Given the description of an element on the screen output the (x, y) to click on. 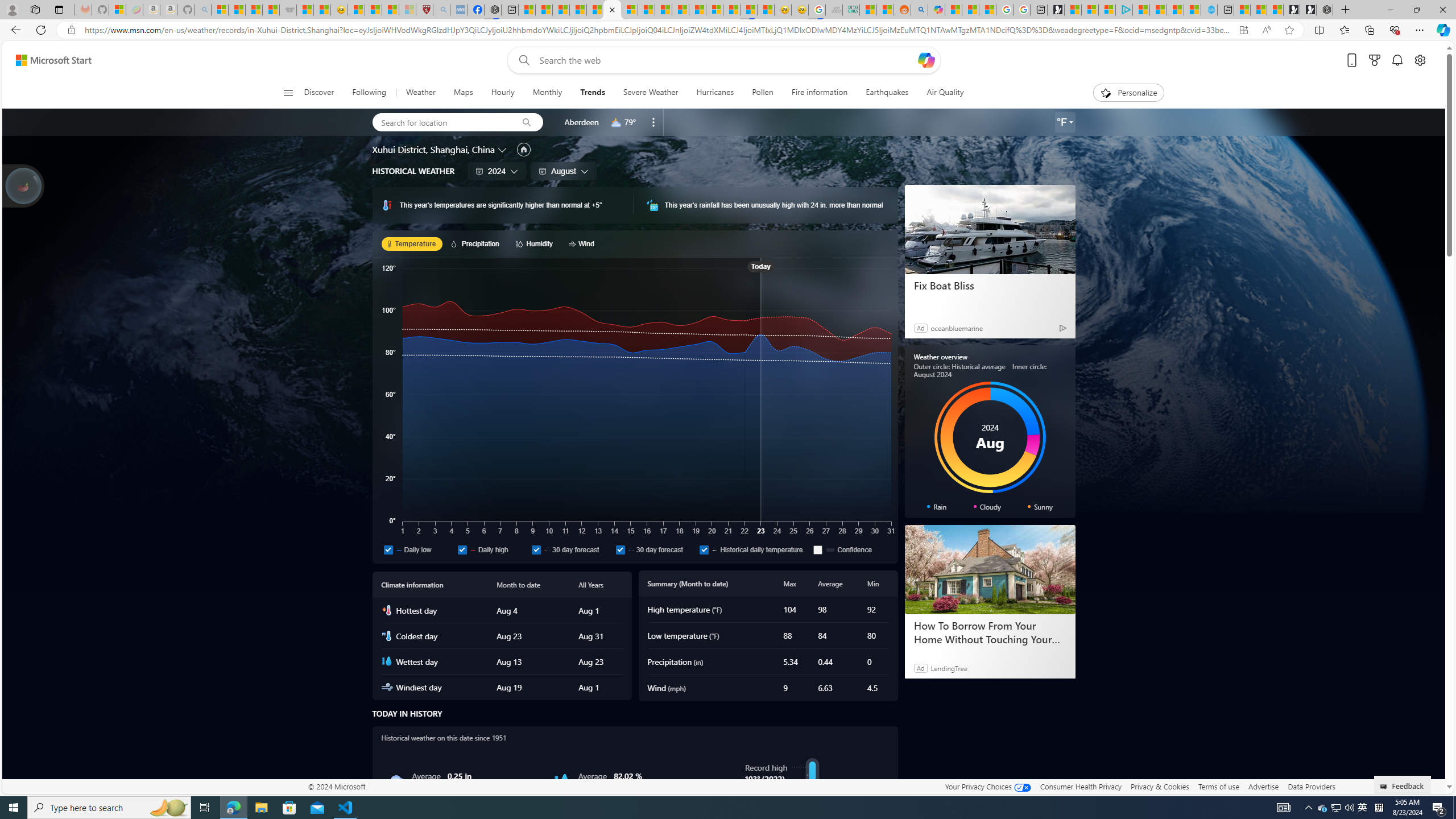
Temperature (411, 243)
August (563, 170)
Historical daily temperature (753, 549)
Set as primary location (522, 149)
Maps (462, 92)
Terms of use (1218, 785)
Terms of use (1218, 786)
Rain (396, 781)
